Given the description of an element on the screen output the (x, y) to click on. 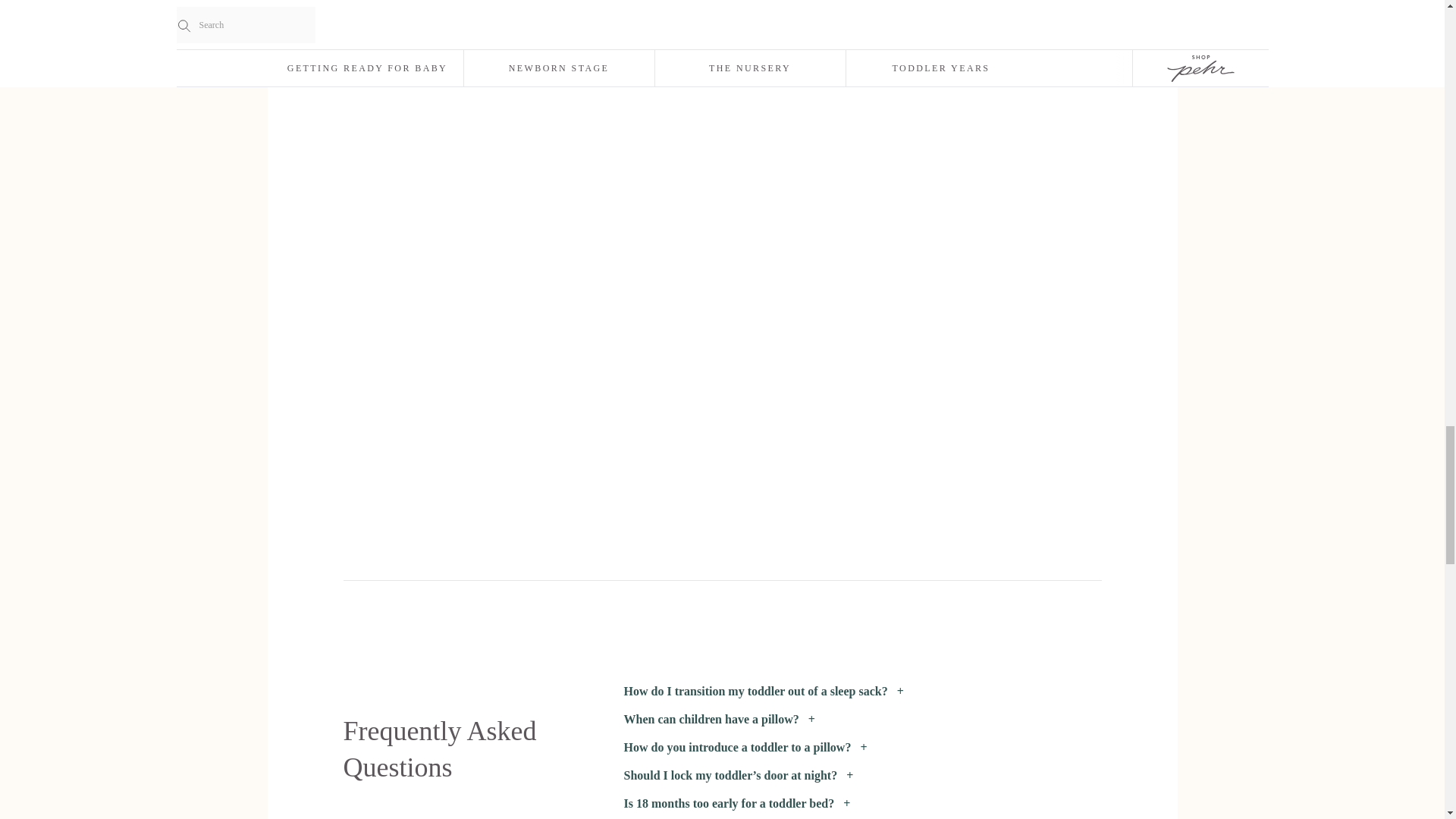
How do I transition my toddler out of a sleep sack? (861, 691)
Is 18 months too early for a toddler bed? (861, 803)
How do you introduce a toddler to a pillow? (861, 747)
When can children have a pillow? (861, 719)
